Given the description of an element on the screen output the (x, y) to click on. 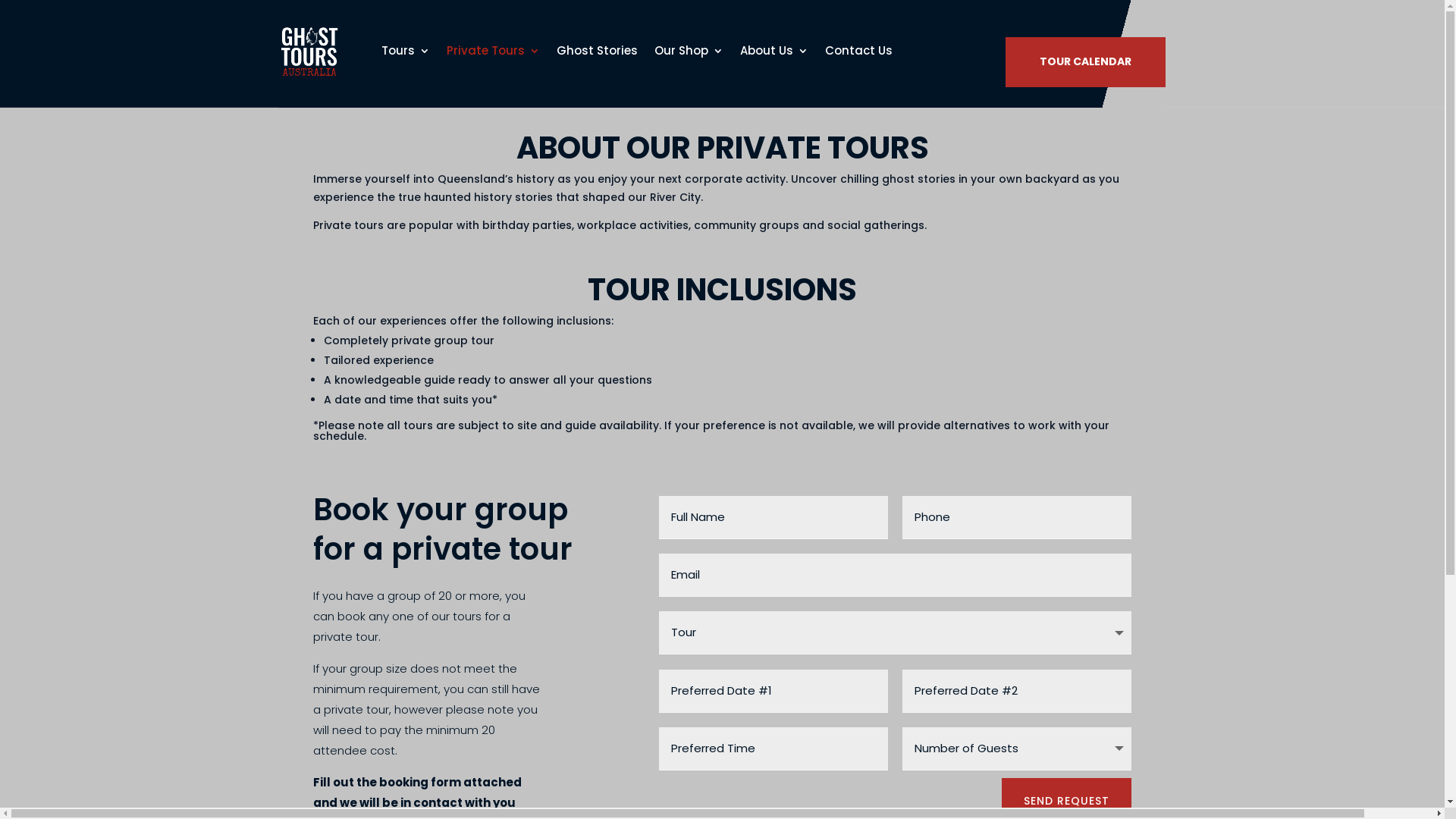
Tours Element type: text (404, 50)
Private Tours Element type: text (492, 50)
Our Shop Element type: text (687, 50)
Contact Us Element type: text (858, 50)
About Us Element type: text (774, 50)
Ghost Stories Element type: text (596, 50)
TOUR CALENDAR Element type: text (1085, 62)
